Given the description of an element on the screen output the (x, y) to click on. 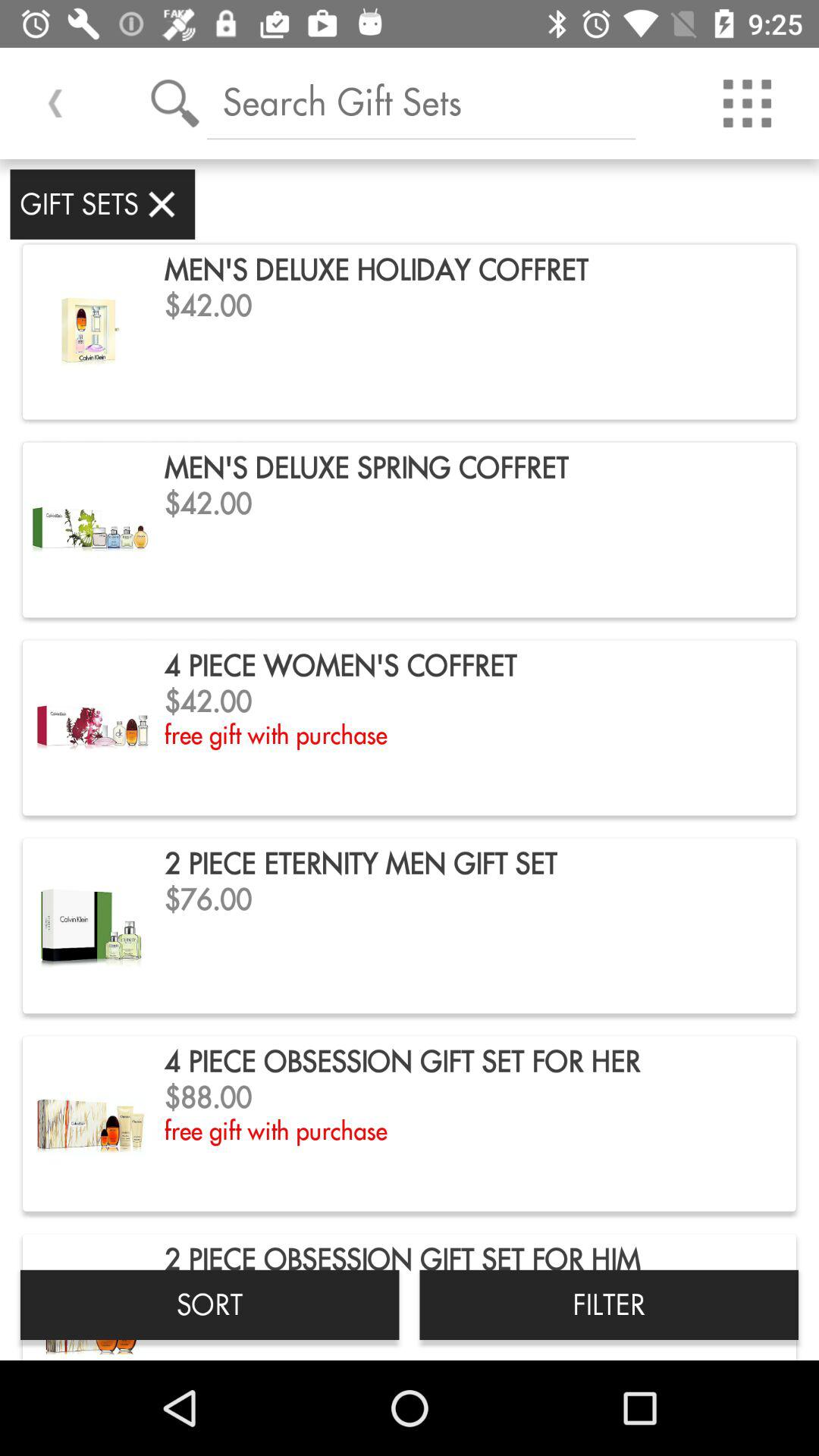
tap item above gift sets (55, 103)
